Given the description of an element on the screen output the (x, y) to click on. 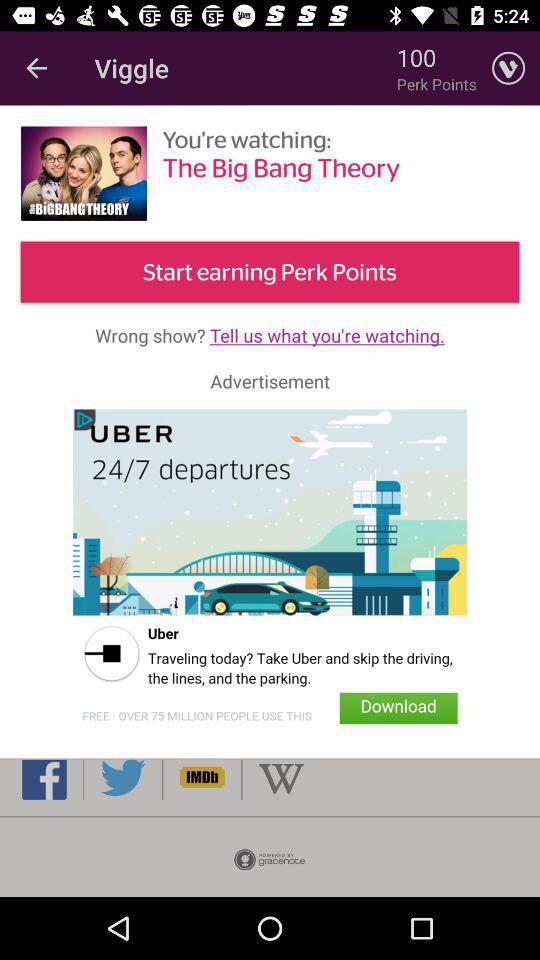
open advertisement (269, 573)
